Given the description of an element on the screen output the (x, y) to click on. 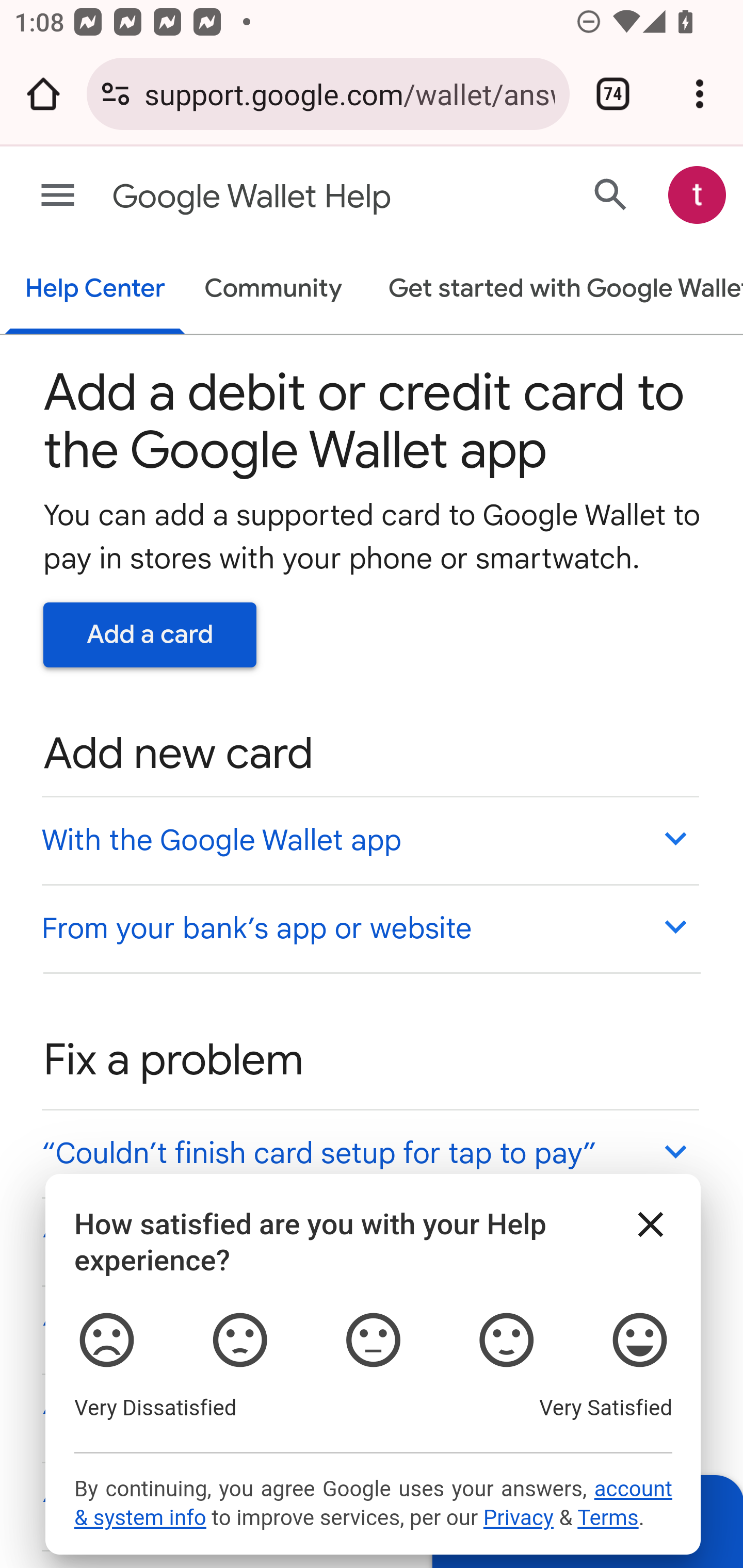
Open the home page (43, 93)
Connection is secure (115, 93)
Switch or close tabs (612, 93)
Customize and control Google Chrome (699, 93)
Main menu (58, 195)
Google Wallet Help (292, 197)
Search Help Center (611, 194)
Help Center (94, 289)
Community (273, 289)
Get started with Google Wallet (555, 289)
Add a card (150, 633)
With the Google Wallet app (369, 839)
From your bank’s app or website (369, 927)
“Couldn’t finish card setup for tap to pay” (369, 1152)
Close user survey dialog (650, 1224)
Smiley 1 of 5. Very dissatisfied Very Dissatisfied (106, 1340)
Smiley 2 of 5. Somewhat dissatisfied (238, 1340)
Smiley 3 of 5. Neither satisfied nor dissatisfied (372, 1340)
Smiley 4 of 5. Somewhat satisfied (506, 1340)
Smiley 5 of 5. Very satisfied Very Satisfied (639, 1340)
account & system info (372, 1504)
Privacy, Opens in new tab Privacy (518, 1518)
Terms, Opens in new tab Terms (606, 1518)
